Given the description of an element on the screen output the (x, y) to click on. 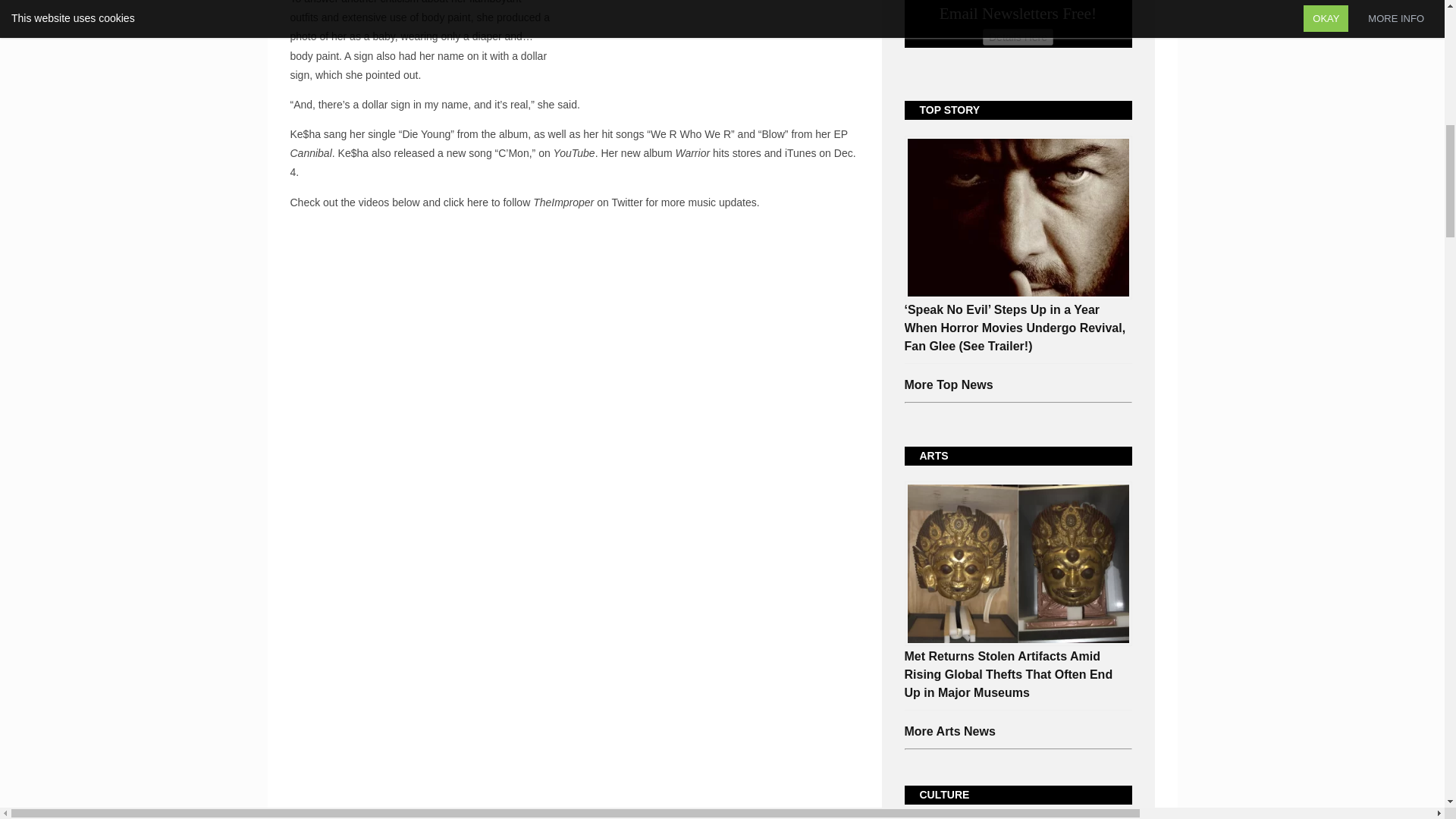
Details Here (1017, 36)
kesha-todayshow (717, 18)
Follow the Improper on Twitter (465, 202)
